Given the description of an element on the screen output the (x, y) to click on. 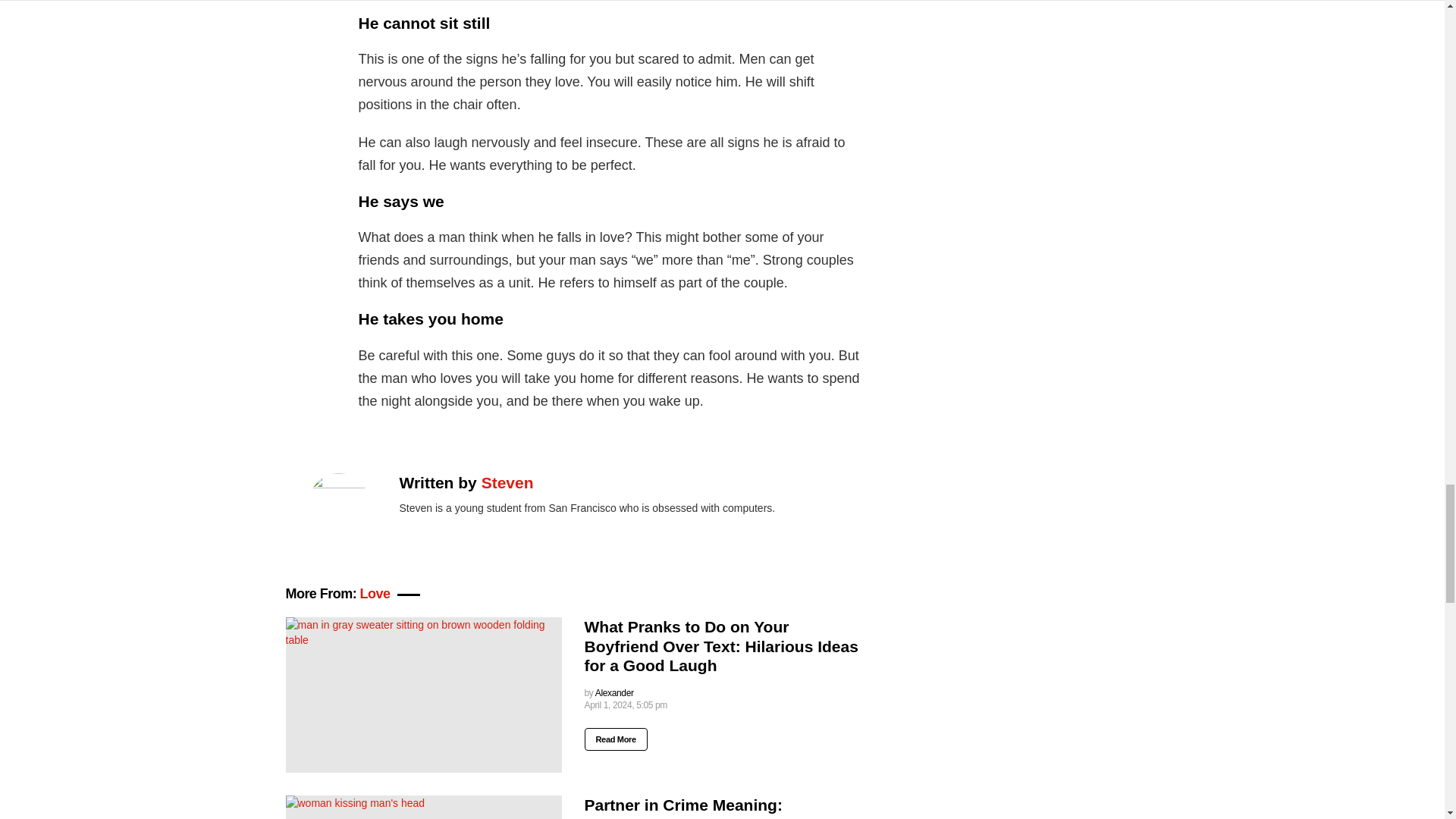
Love (374, 593)
Alexander (614, 692)
Steven (507, 482)
